Given the description of an element on the screen output the (x, y) to click on. 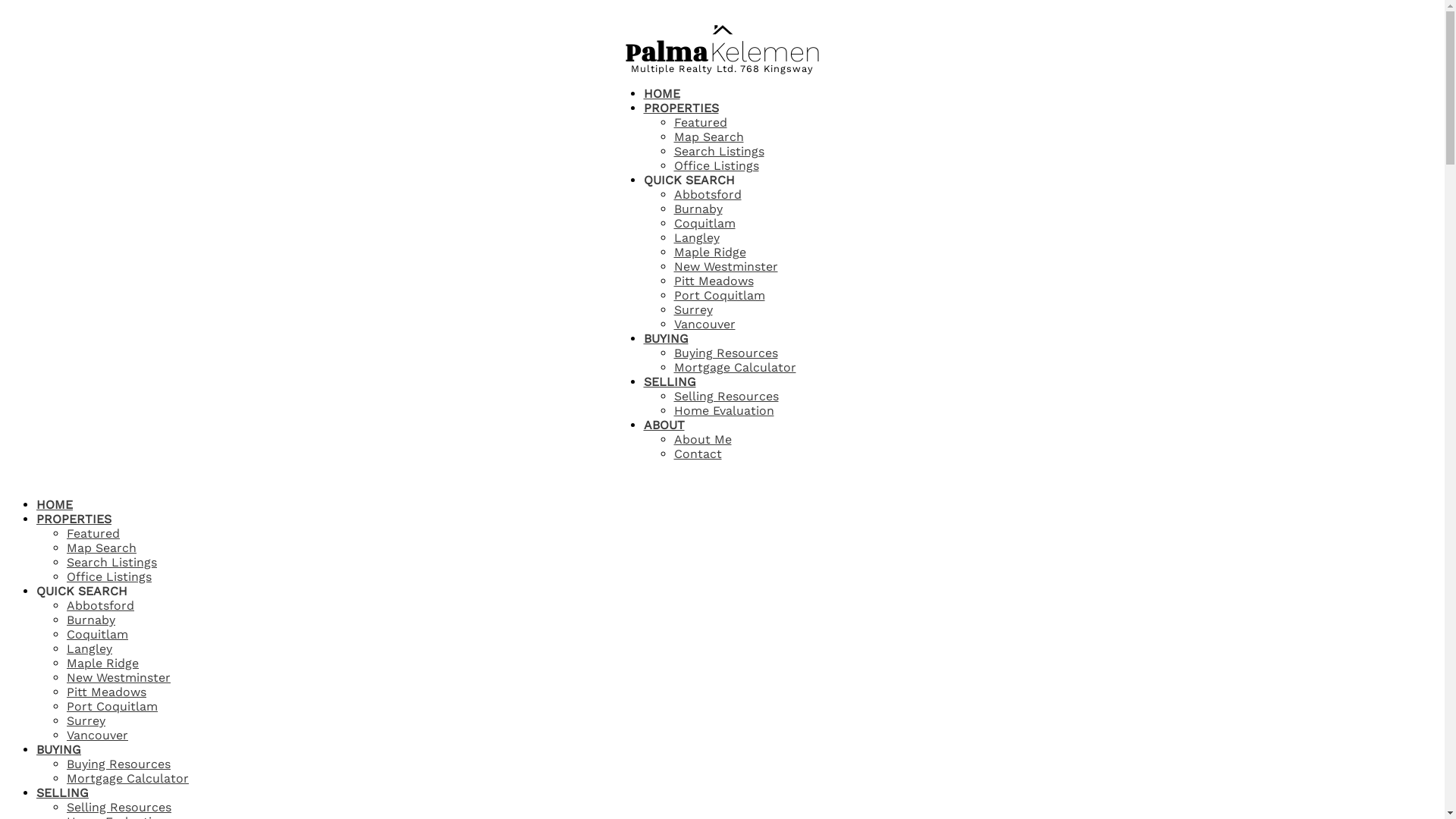
Search Listings Element type: text (718, 151)
Abbotsford Element type: text (100, 605)
Buying Resources Element type: text (118, 763)
Home Evaluation Element type: text (723, 410)
HOME Element type: text (661, 94)
Pitt Meadows Element type: text (106, 691)
Featured Element type: text (699, 122)
Burnaby Element type: text (90, 619)
Vancouver Element type: text (97, 735)
Port Coquitlam Element type: text (111, 706)
Map Search Element type: text (708, 136)
Search Listings Element type: text (111, 562)
Pitt Meadows Element type: text (713, 280)
Mortgage Calculator Element type: text (734, 367)
SELLING Element type: text (669, 382)
Mortgage Calculator Element type: text (127, 778)
Selling Resources Element type: text (725, 396)
Coquitlam Element type: text (97, 634)
New Westminster Element type: text (118, 677)
Vancouver Element type: text (703, 323)
New Westminster Element type: text (725, 266)
SELLING Element type: text (62, 793)
Buying Resources Element type: text (725, 352)
BUYING Element type: text (665, 339)
Burnaby Element type: text (697, 208)
PROPERTIES Element type: text (680, 108)
Maple Ridge Element type: text (709, 251)
Port Coquitlam Element type: text (718, 295)
HOME Element type: text (54, 505)
Maple Ridge Element type: text (102, 662)
Langley Element type: text (695, 237)
Map Search Element type: text (101, 547)
Surrey Element type: text (692, 309)
About Me Element type: text (702, 439)
Surrey Element type: text (85, 720)
Office Listings Element type: text (715, 165)
Langley Element type: text (89, 648)
Contact Element type: text (697, 453)
Selling Resources Element type: text (118, 807)
Featured Element type: text (92, 533)
Office Listings Element type: text (108, 576)
PROPERTIES Element type: text (73, 519)
Coquitlam Element type: text (703, 223)
BUYING Element type: text (58, 750)
ABOUT Element type: text (663, 425)
Abbotsford Element type: text (706, 194)
